Given the description of an element on the screen output the (x, y) to click on. 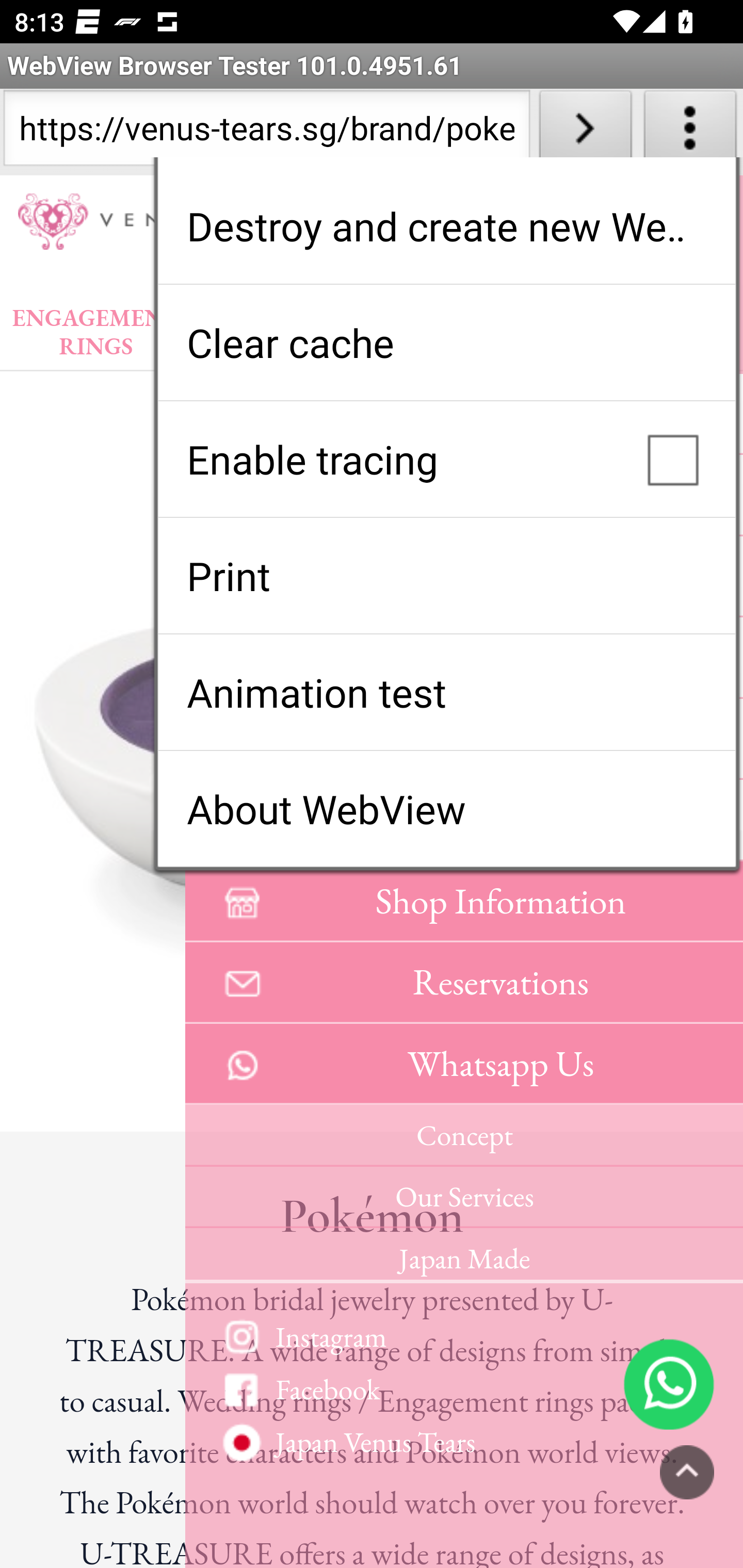
Destroy and create new WebView (446, 225)
Clear cache (446, 342)
Enable tracing (446, 459)
Print (446, 575)
Animation test (446, 692)
About WebView (446, 809)
